Given the description of an element on the screen output the (x, y) to click on. 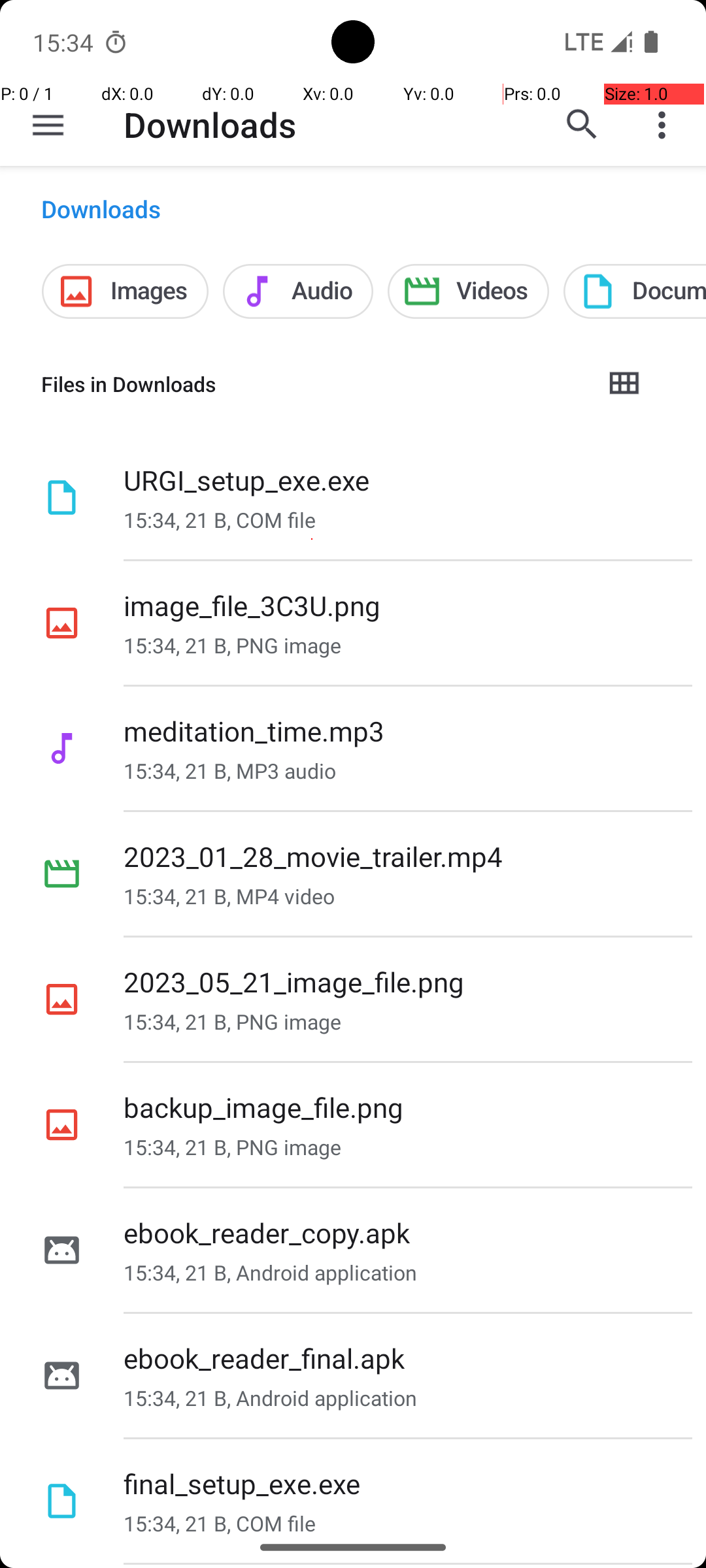
URGI_setup_exe.exe Element type: android.widget.TextView (246, 479)
15:34, 21 B, COM file Element type: android.widget.TextView (219, 519)
image_file_3C3U.png Element type: android.widget.TextView (251, 604)
15:34, 21 B, PNG image Element type: android.widget.TextView (232, 645)
meditation_time.mp3 Element type: android.widget.TextView (253, 730)
15:34, 21 B, MP3 audio Element type: android.widget.TextView (229, 770)
2023_01_28_movie_trailer.mp4 Element type: android.widget.TextView (313, 855)
15:34, 21 B, MP4 video Element type: android.widget.TextView (228, 896)
2023_05_21_image_file.png Element type: android.widget.TextView (293, 981)
backup_image_file.png Element type: android.widget.TextView (263, 1106)
ebook_reader_copy.apk Element type: android.widget.TextView (266, 1232)
15:34, 21 B, Android application Element type: android.widget.TextView (270, 1272)
ebook_reader_final.apk Element type: android.widget.TextView (263, 1357)
final_setup_exe.exe Element type: android.widget.TextView (241, 1483)
